Given the description of an element on the screen output the (x, y) to click on. 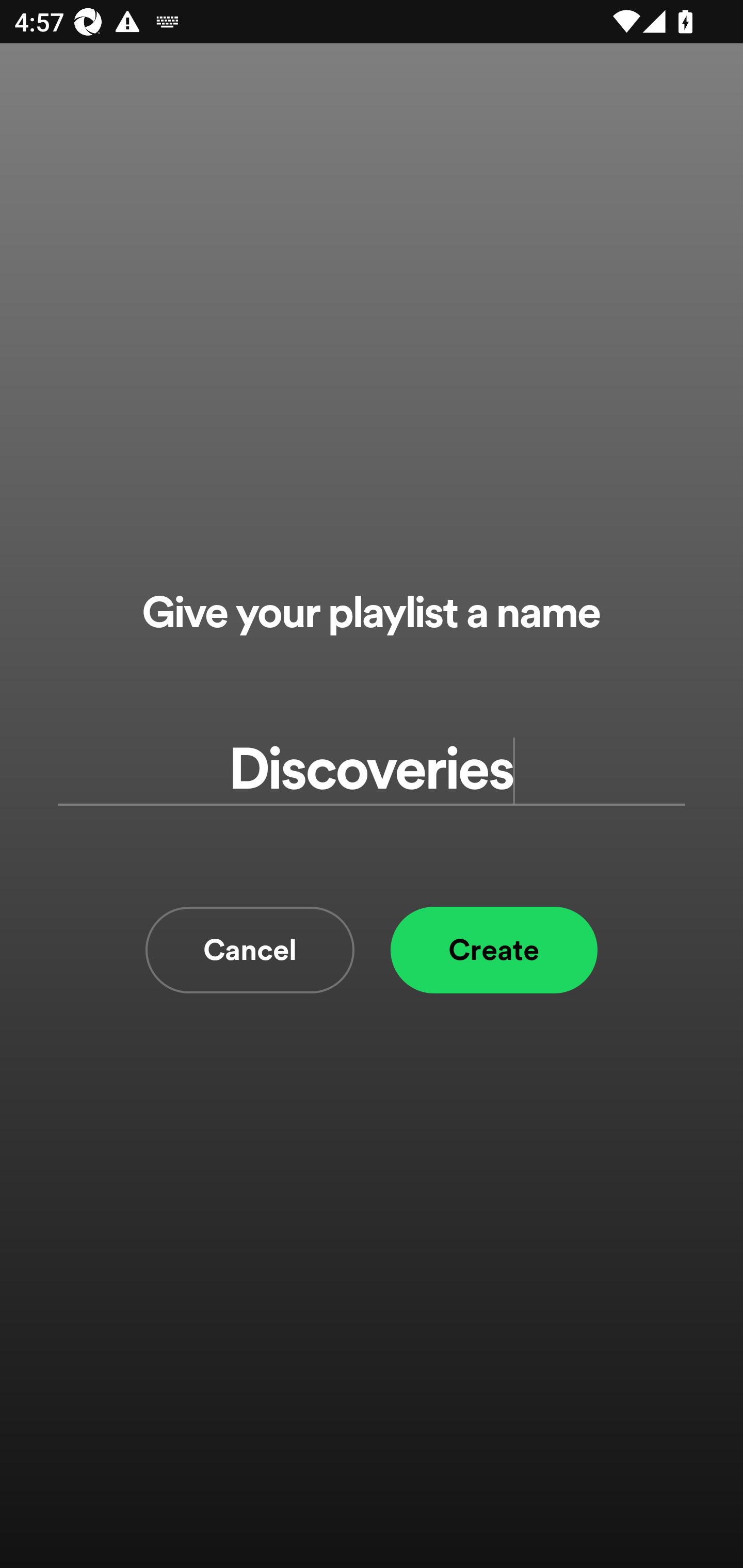
Discoveries Add a playlist name (371, 769)
Cancel (249, 950)
Create (493, 950)
